Given the description of an element on the screen output the (x, y) to click on. 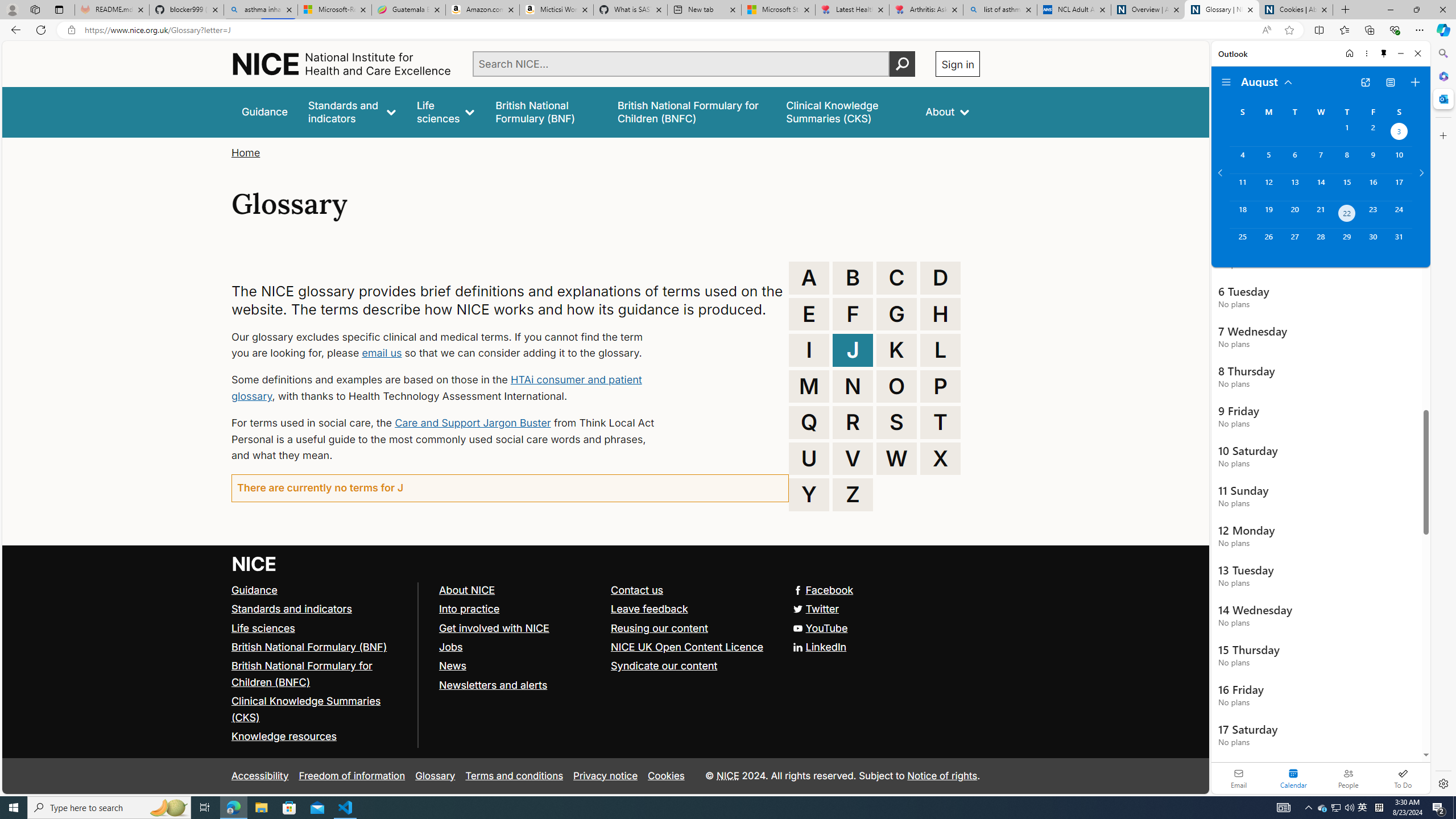
British National Formulary for Children (BNFC) (319, 674)
J (852, 350)
false (845, 111)
Thursday, August 8, 2024.  (1346, 159)
Guidance (319, 589)
asthma inhaler - Search (260, 9)
Monday, August 5, 2024.  (1268, 159)
YouTube (820, 627)
Q (809, 422)
X (940, 458)
Folder navigation (1225, 82)
